Given the description of an element on the screen output the (x, y) to click on. 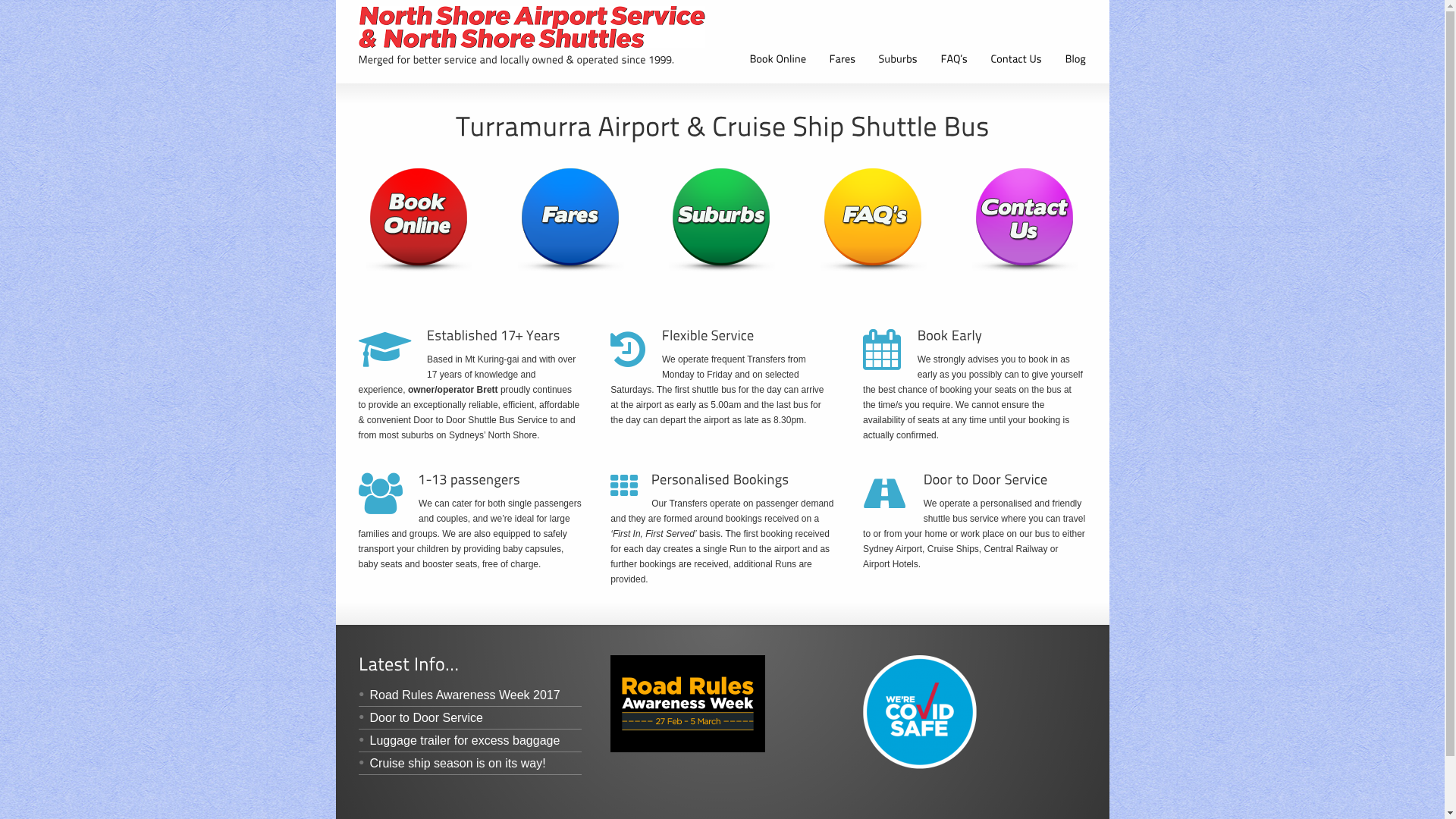
Luggage trailer for excess baggage Element type: text (458, 740)
Cruise ship season is on its way! Element type: text (451, 762)
Road Rules Awareness Week 2017 Element type: text (458, 694)
Door to Door Service Element type: text (419, 717)
